Given the description of an element on the screen output the (x, y) to click on. 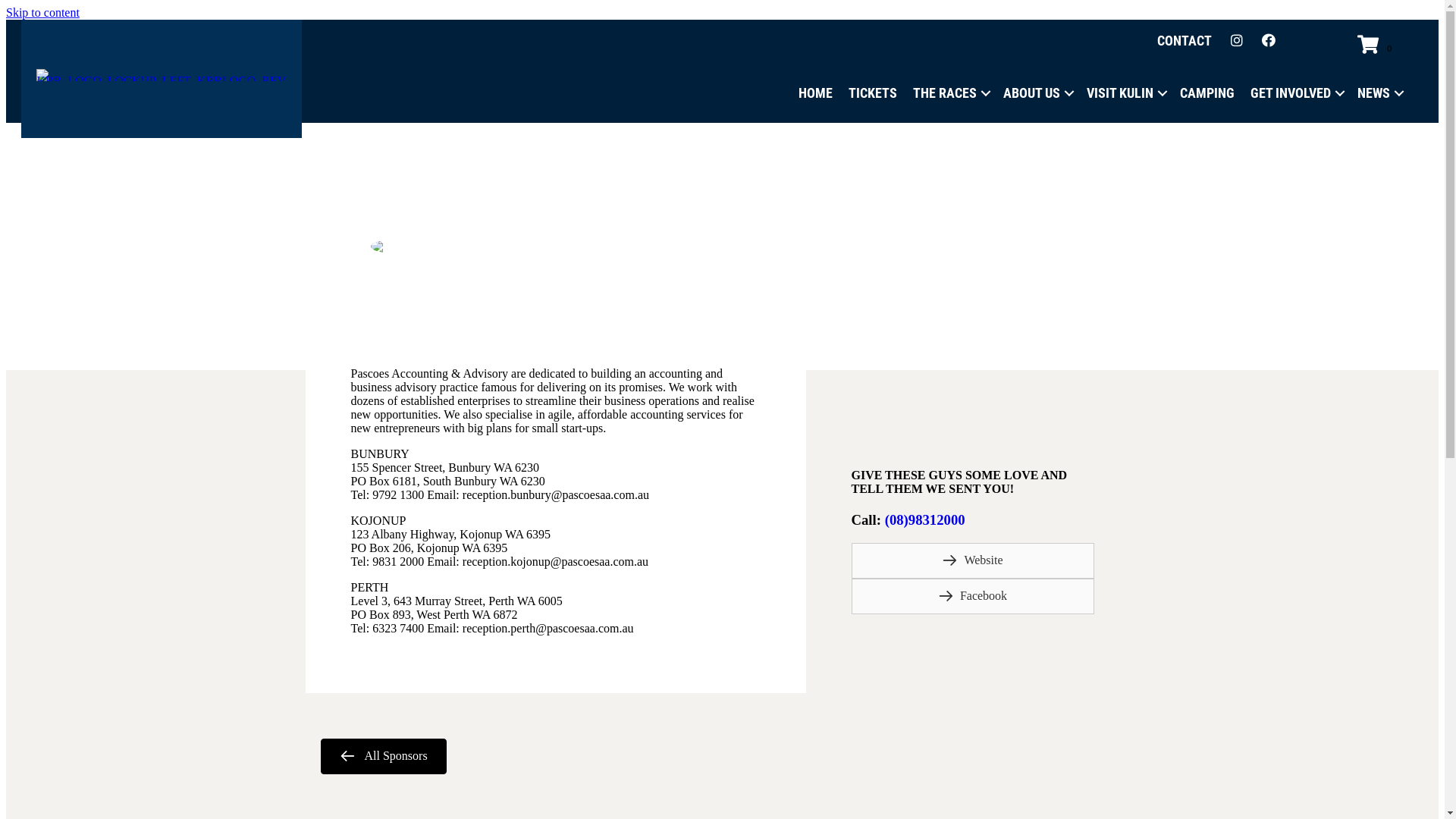
GET INVOLVED Element type: text (1295, 92)
Facebook Element type: text (971, 596)
KBR_LOGO_LOCKUP_LEFT_KBRLOGO_REV Element type: hover (161, 75)
Website Element type: text (971, 560)
VISIT KULIN Element type: text (1125, 92)
ABOUT US Element type: text (1036, 92)
(08)98312000 Element type: text (924, 519)
CONTACT Element type: text (1184, 40)
Skip to content Element type: text (42, 12)
All Sponsors Element type: text (382, 756)
CAMPING Element type: text (1207, 92)
Print Element type: hover (388, 246)
0 Element type: text (1376, 45)
HOME Element type: text (815, 92)
TICKETS Element type: text (872, 92)
THE RACES Element type: text (949, 92)
NEWS Element type: text (1378, 92)
